Given the description of an element on the screen output the (x, y) to click on. 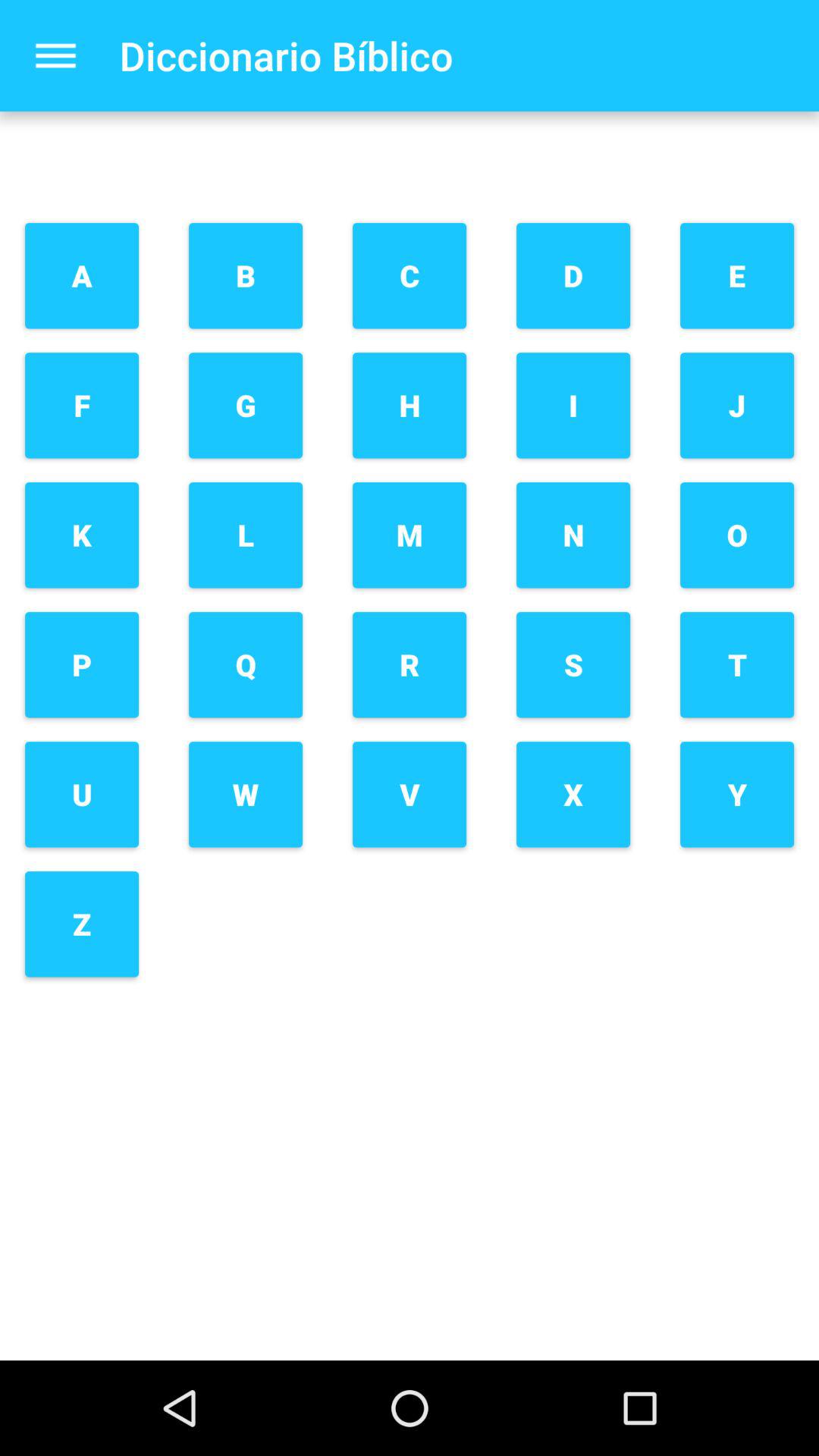
tap icon below o item (736, 664)
